Given the description of an element on the screen output the (x, y) to click on. 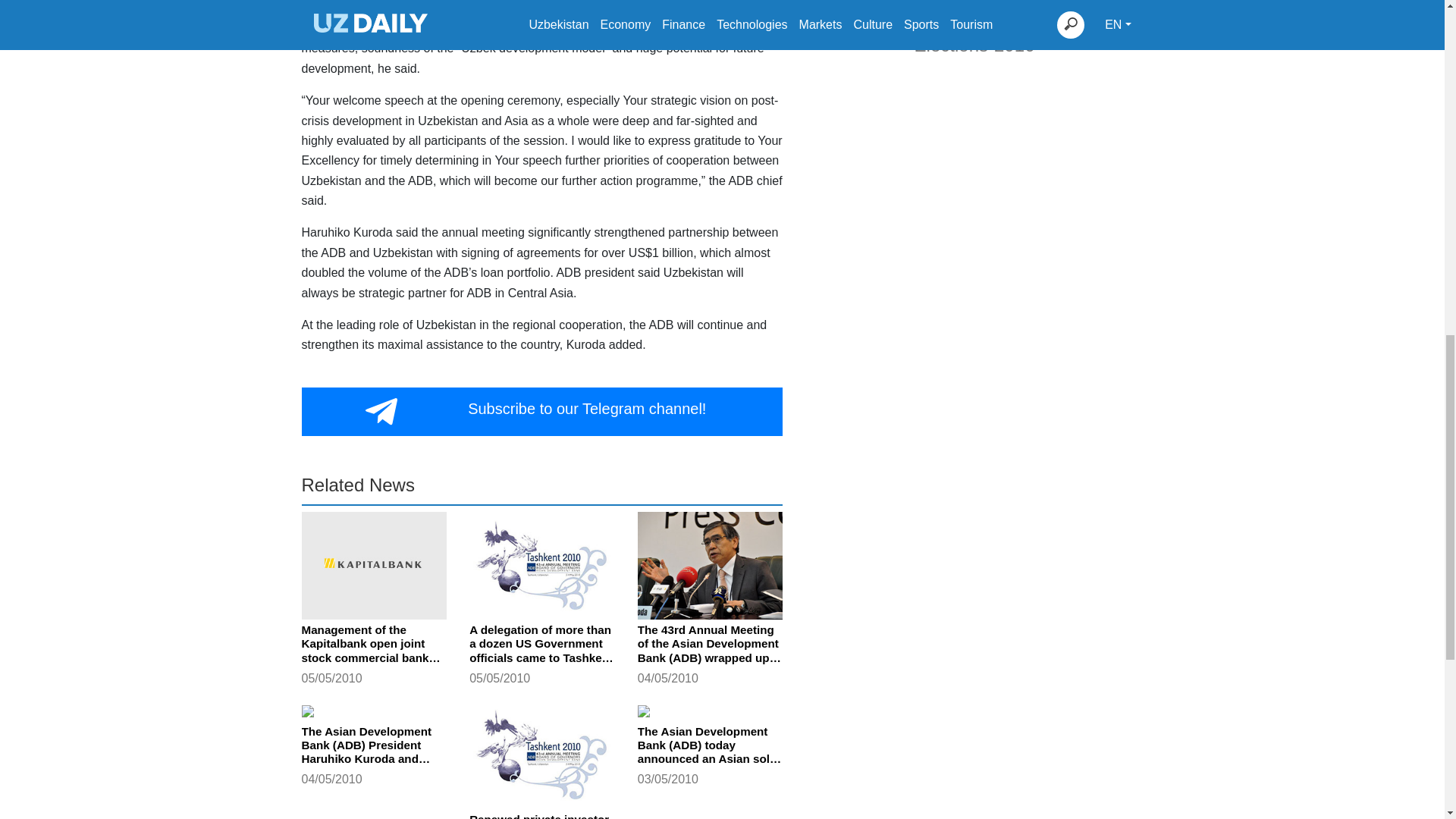
Subscribe to our Telegram channel! (542, 411)
